Given the description of an element on the screen output the (x, y) to click on. 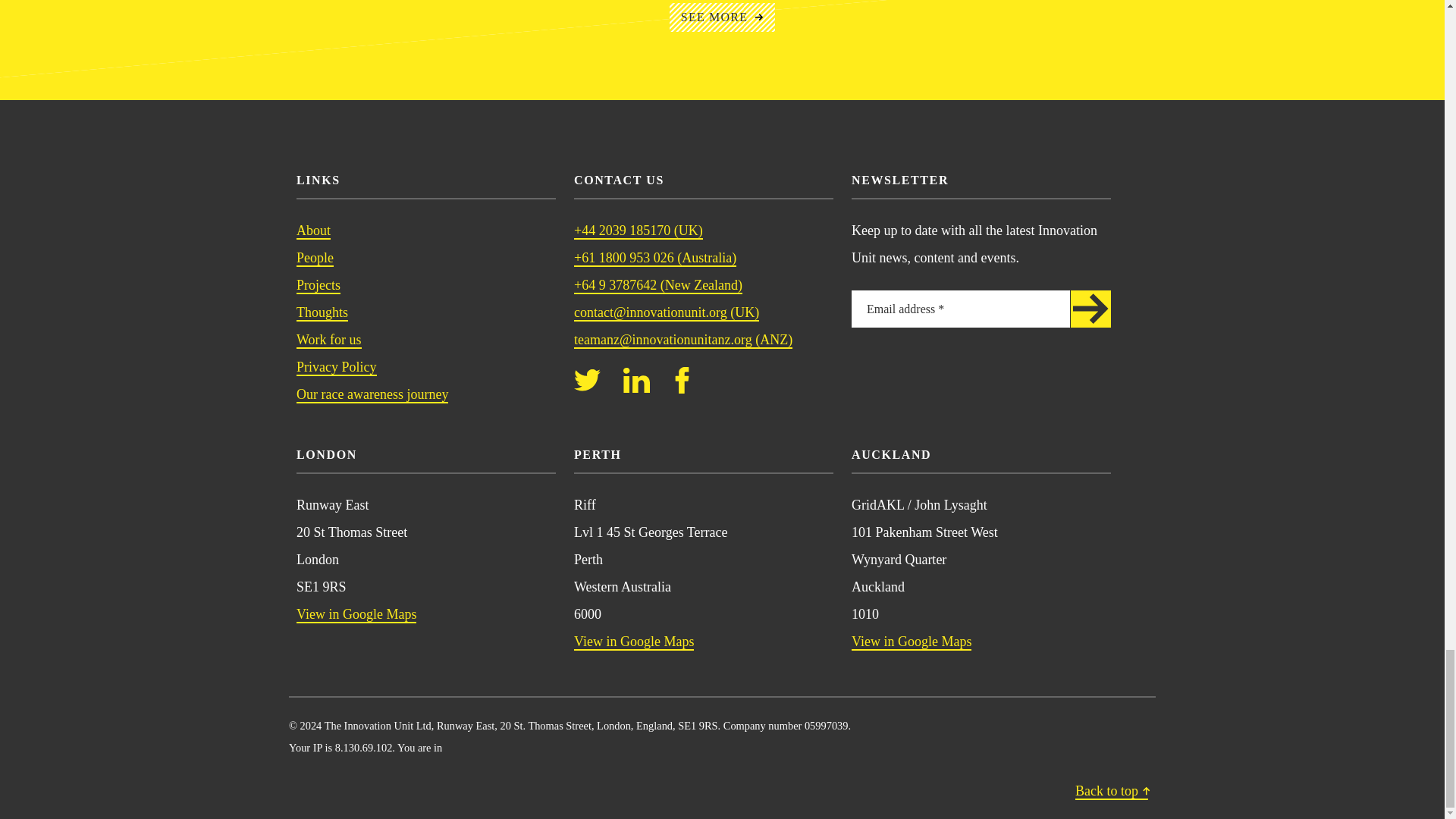
Follow us on Twitter (586, 379)
Facebook (681, 379)
Linked In (636, 379)
